Given the description of an element on the screen output the (x, y) to click on. 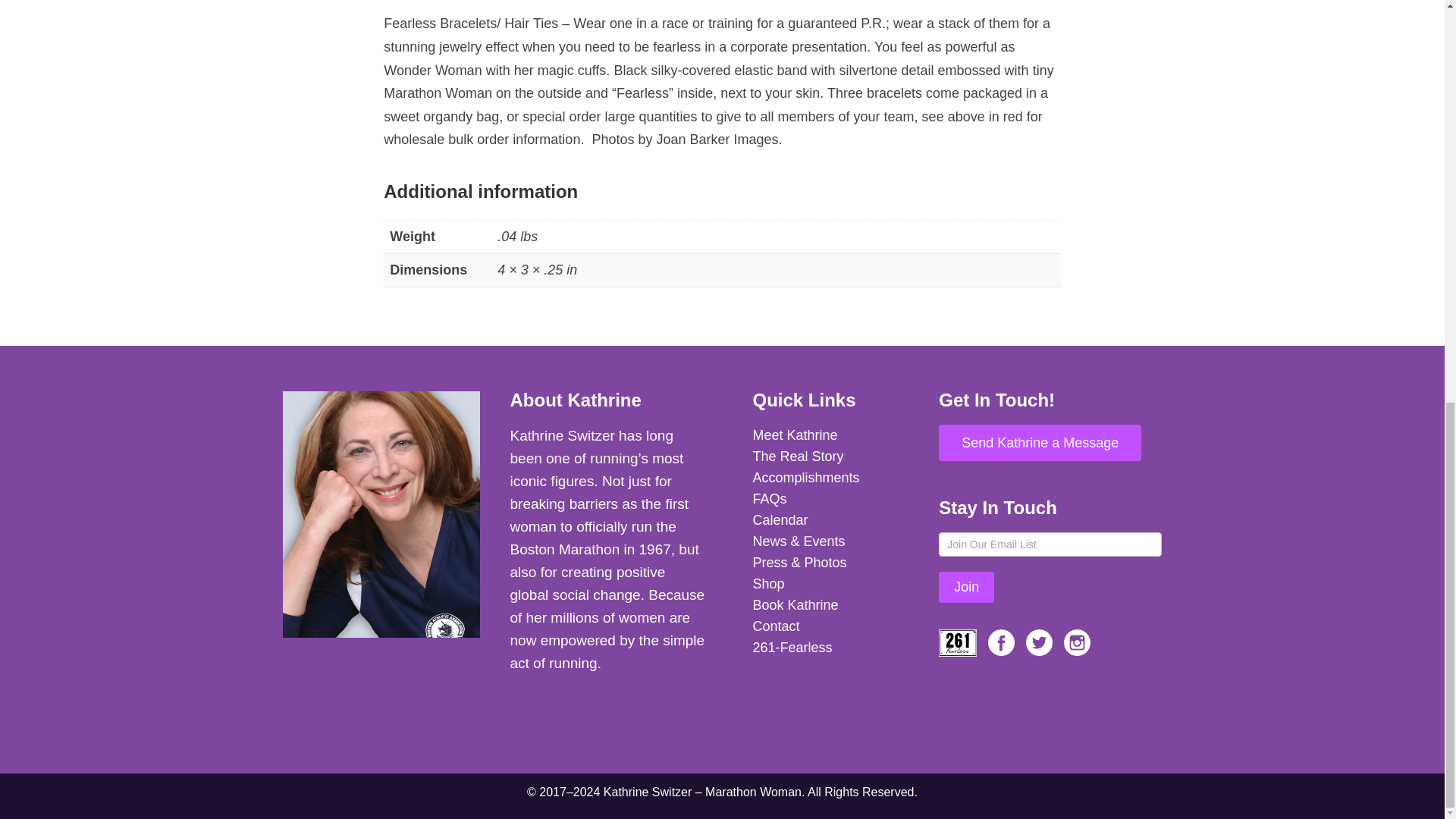
Book Kathrine (830, 604)
Accomplishments (830, 477)
Meet Kathrine (830, 435)
Shop (830, 583)
The Real Story (830, 455)
261-Fearless (830, 647)
FAQs (830, 498)
Contact (830, 626)
Calendar (830, 519)
